Given the description of an element on the screen output the (x, y) to click on. 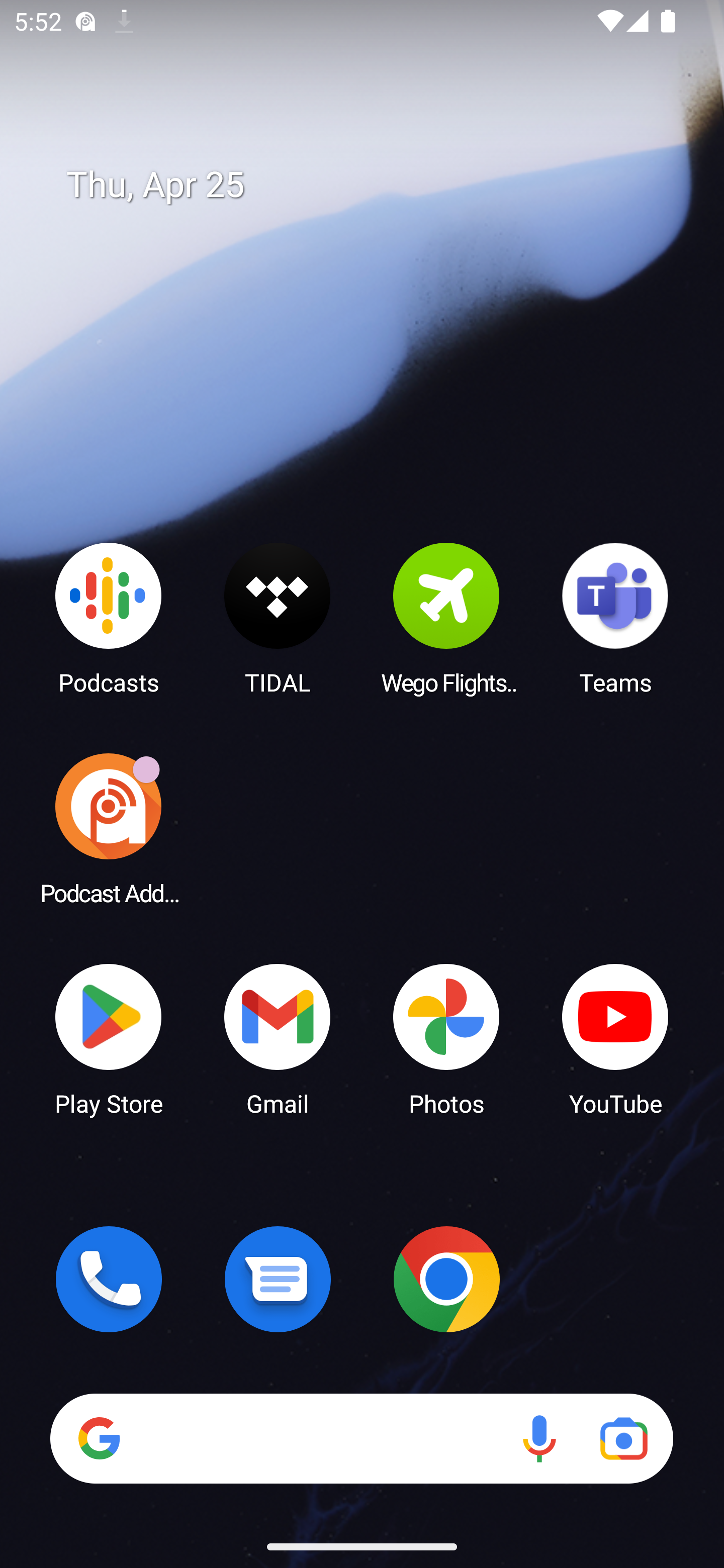
Thu, Apr 25 (375, 184)
Podcasts (108, 617)
TIDAL (277, 617)
Wego Flights & Hotels (445, 617)
Teams (615, 617)
Podcast Addict Podcast Addict has 19 notifications (108, 828)
Play Store (108, 1038)
Gmail (277, 1038)
Photos (445, 1038)
YouTube (615, 1038)
Phone (108, 1279)
Messages (277, 1279)
Chrome (446, 1279)
Search Voice search Google Lens (361, 1438)
Voice search (539, 1438)
Google Lens (623, 1438)
